Given the description of an element on the screen output the (x, y) to click on. 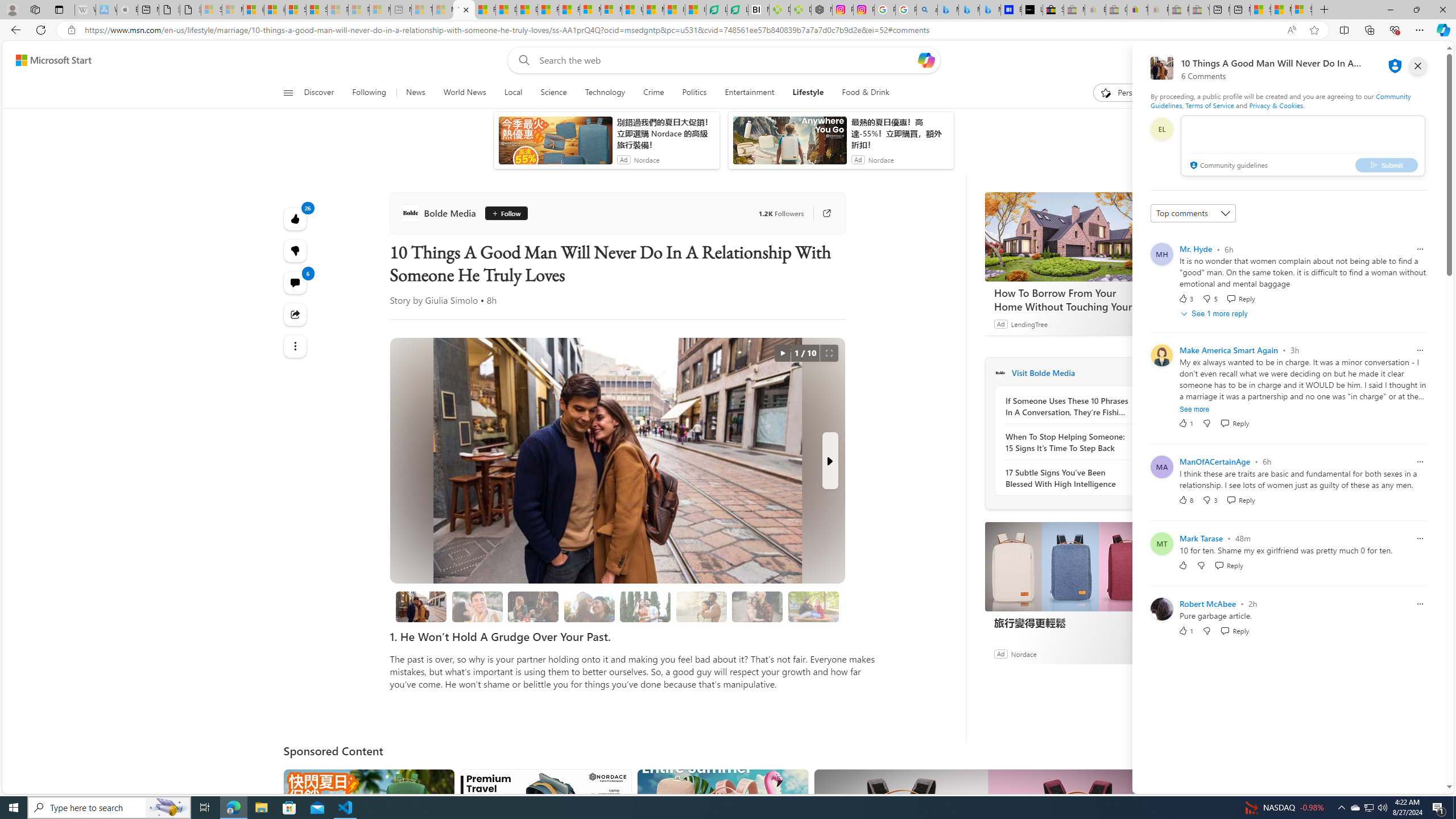
Mr. Hyde (1195, 248)
Local (512, 92)
Follow (502, 213)
Politics (694, 92)
Microsoft Bing Travel - Flights from Hong Kong to Bangkok (948, 9)
Top Stories - MSN - Sleeping (421, 9)
Enter your search term (726, 59)
Politics (694, 92)
Skip to content (49, 59)
